Given the description of an element on the screen output the (x, y) to click on. 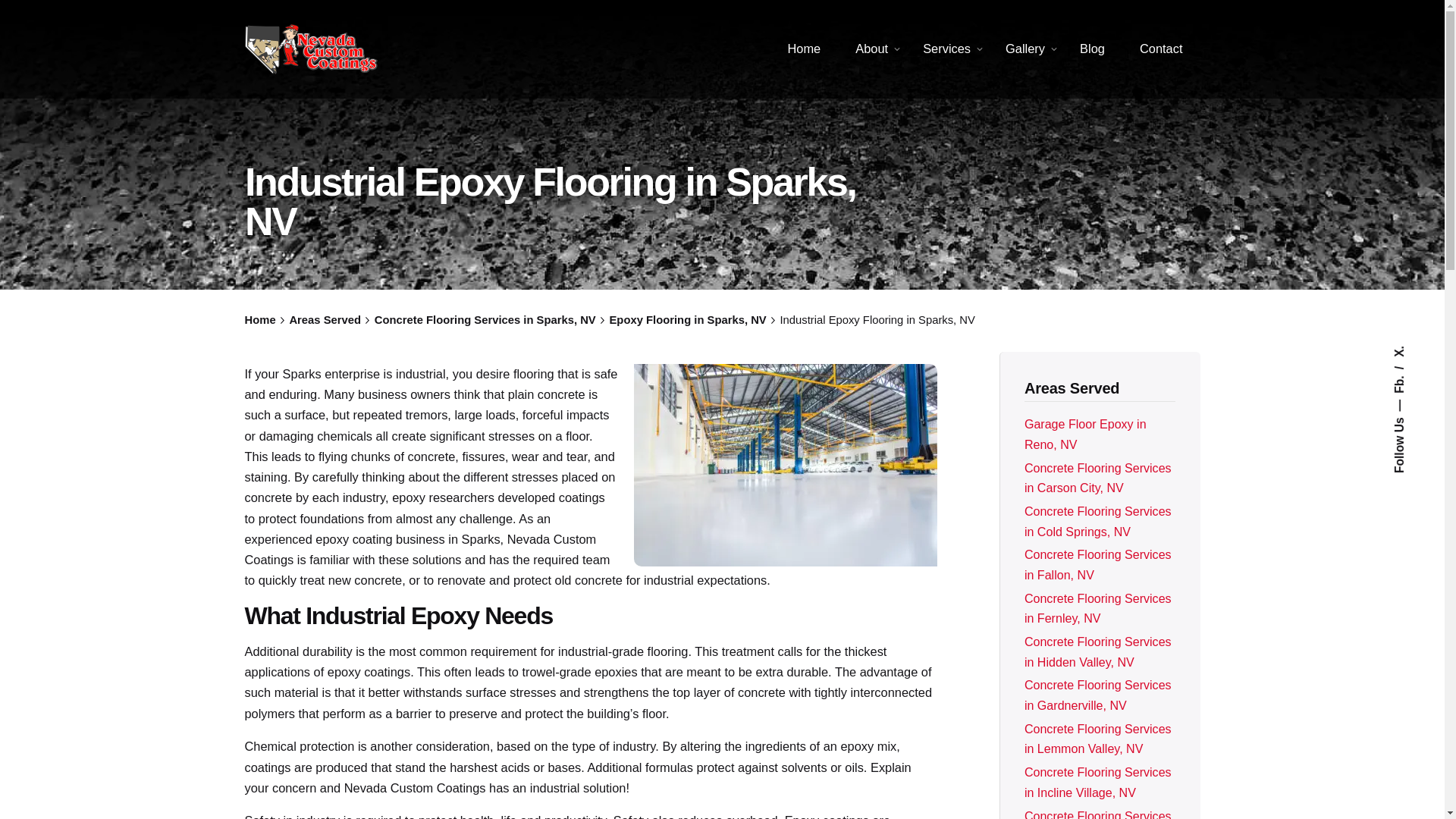
Blog (1092, 49)
Fb. (1403, 378)
Contact (1160, 49)
Services (946, 49)
Gallery (1025, 49)
About (871, 49)
Home (804, 49)
